Given the description of an element on the screen output the (x, y) to click on. 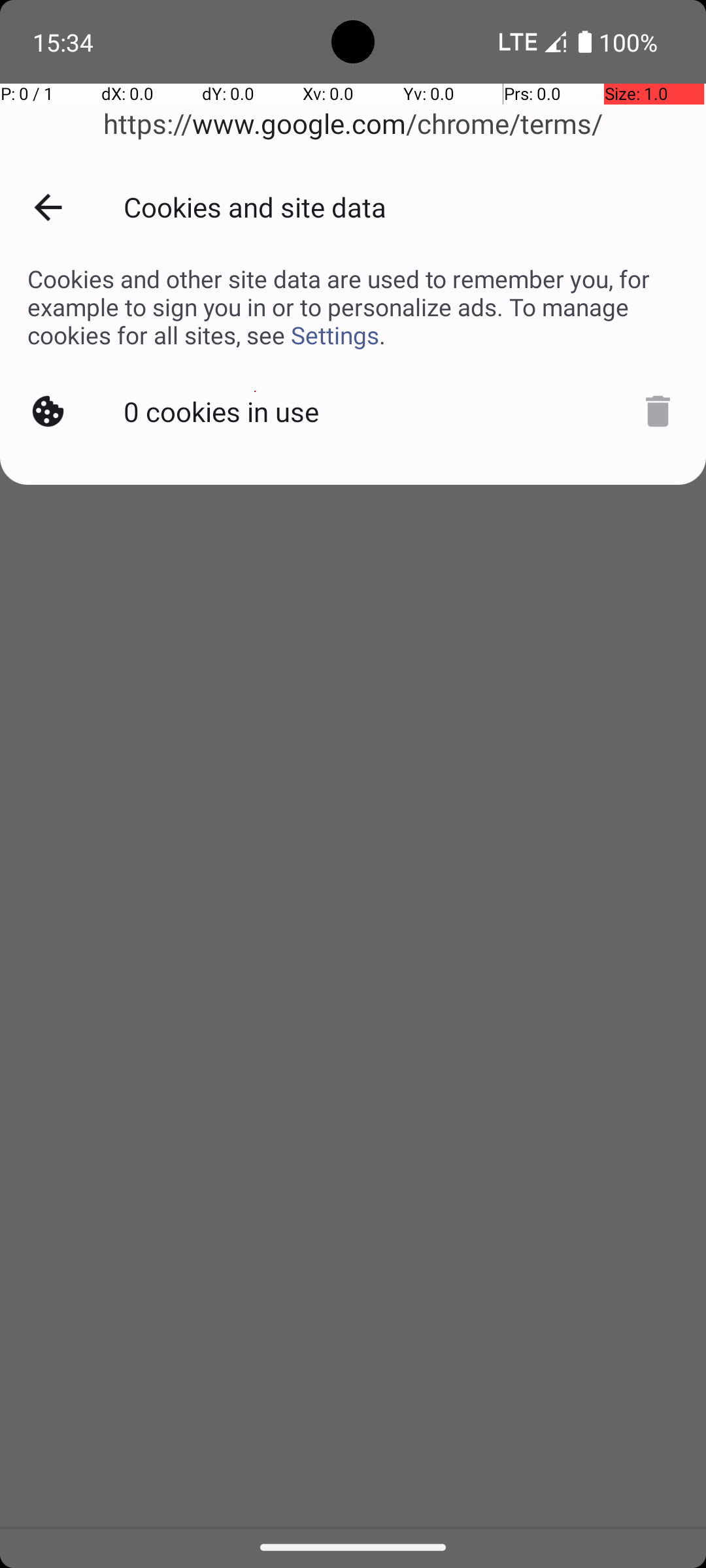
Cookies and other site data are used to remember you, for example to sign you in or to personalize ads. To manage cookies for all sites, see Settings. Element type: android.widget.TextView (352, 306)
0 cookies in use Element type: android.widget.TextView (223, 408)
Delete cookies? Element type: android.widget.ImageView (650, 408)
